Given the description of an element on the screen output the (x, y) to click on. 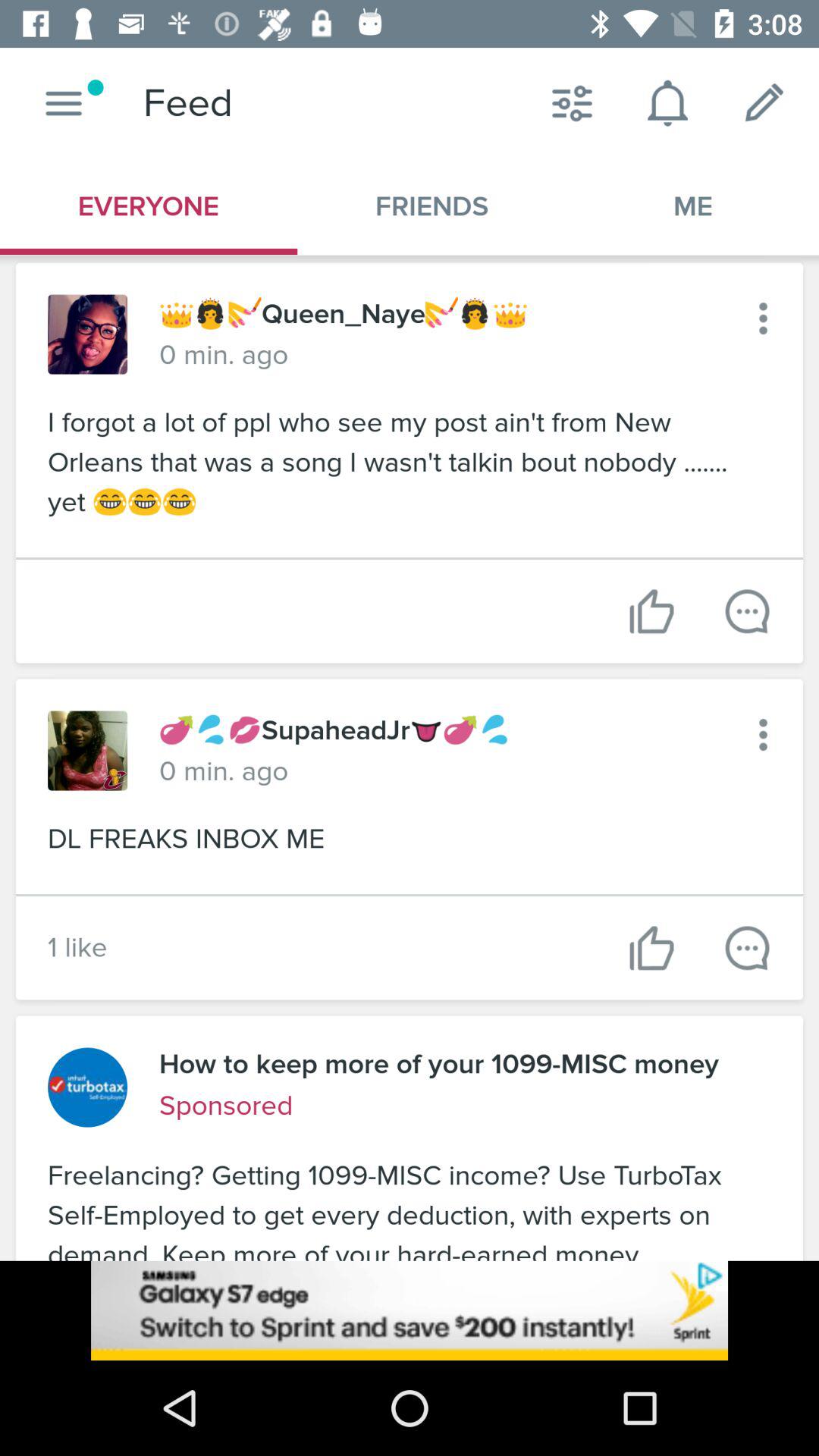
go back button option (763, 318)
